Given the description of an element on the screen output the (x, y) to click on. 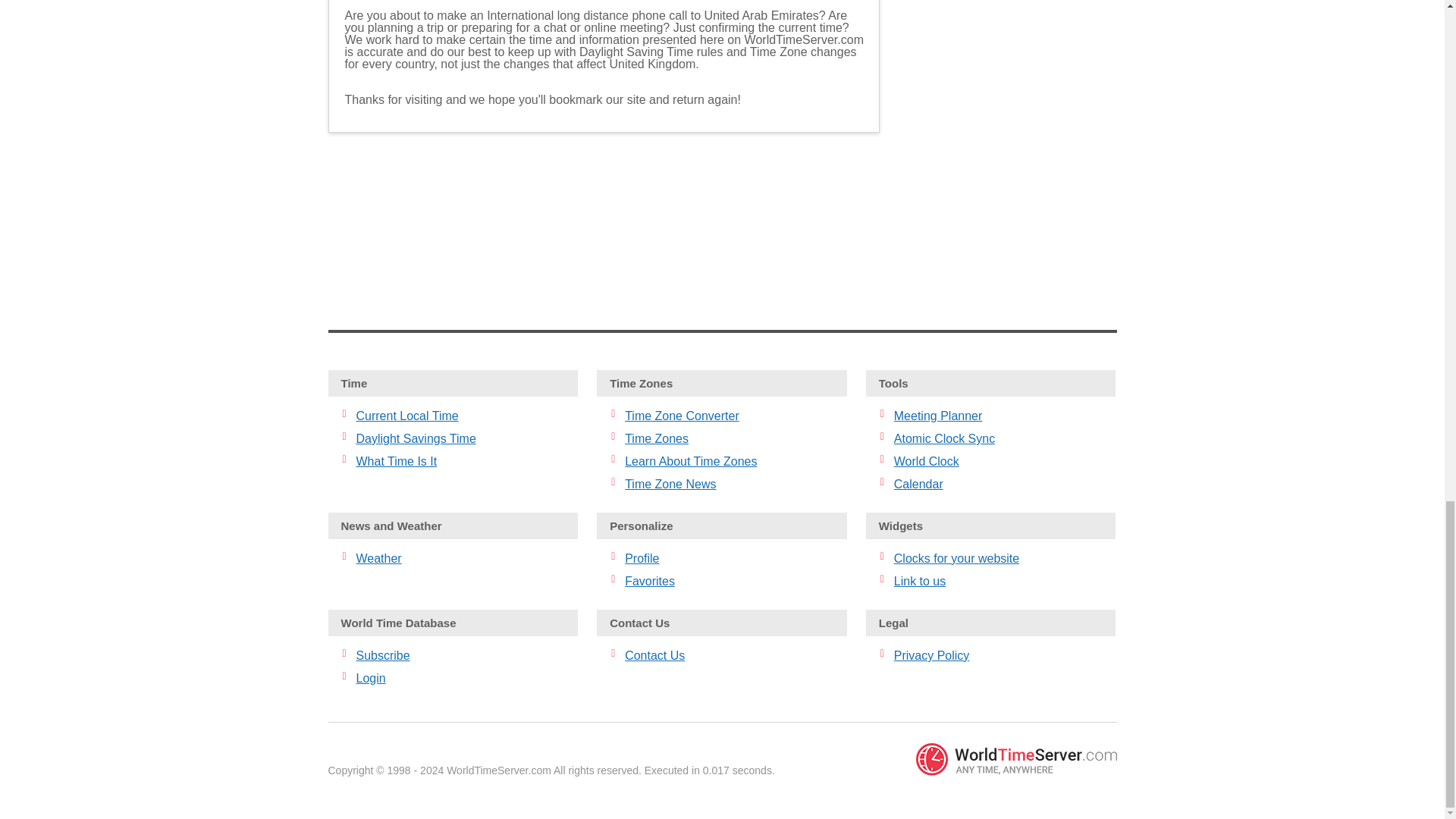
WorldTimeServer.com (1015, 758)
DST Reminders (603, 214)
